Given the description of an element on the screen output the (x, y) to click on. 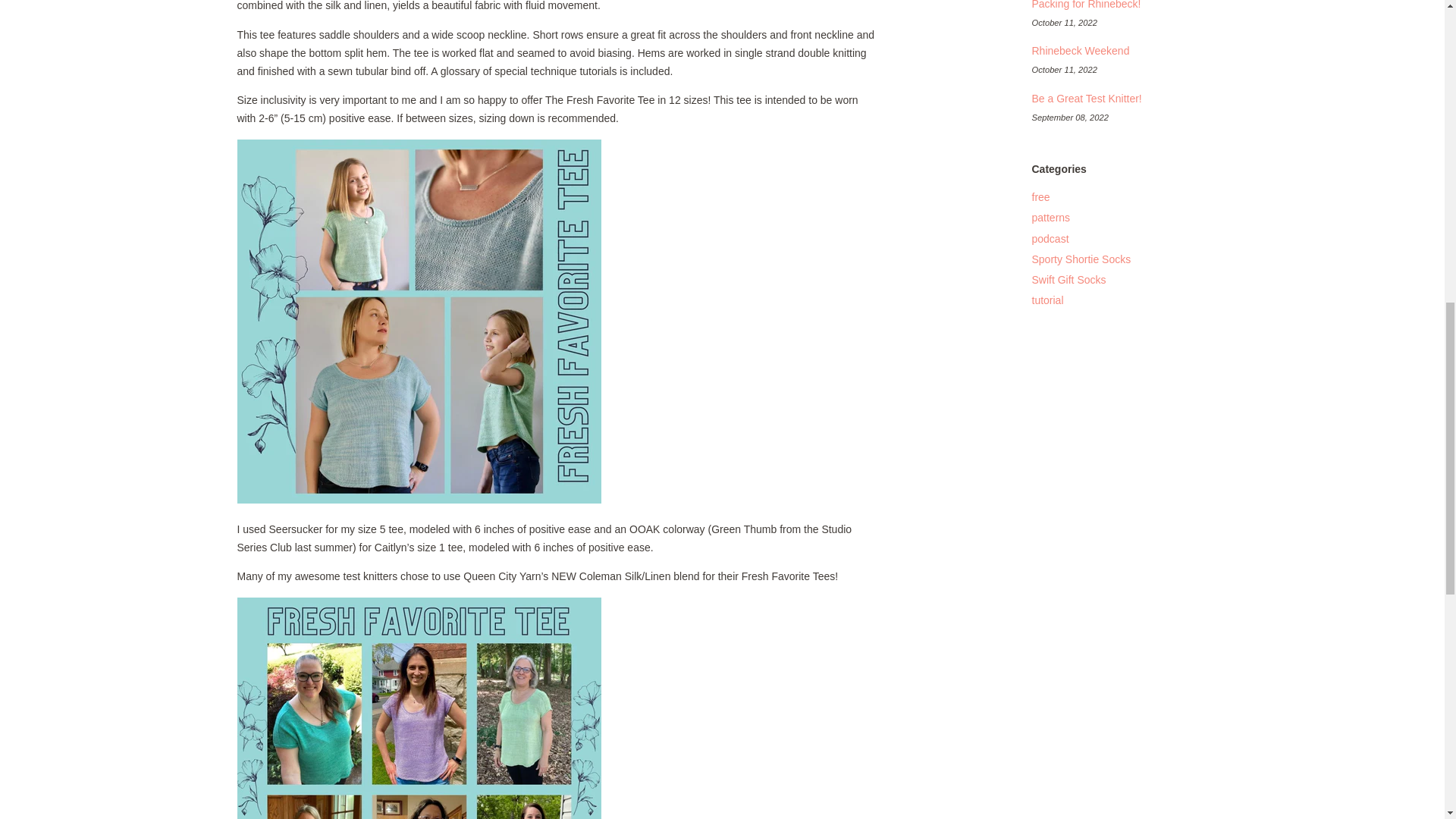
Show articles tagged tutorial (1046, 300)
Show articles tagged podcast (1049, 238)
Show articles tagged Swift Gift Socks (1067, 279)
Show articles tagged free (1039, 196)
Show articles tagged patterns (1050, 217)
Show articles tagged Sporty Shortie Socks (1080, 259)
